Given the description of an element on the screen output the (x, y) to click on. 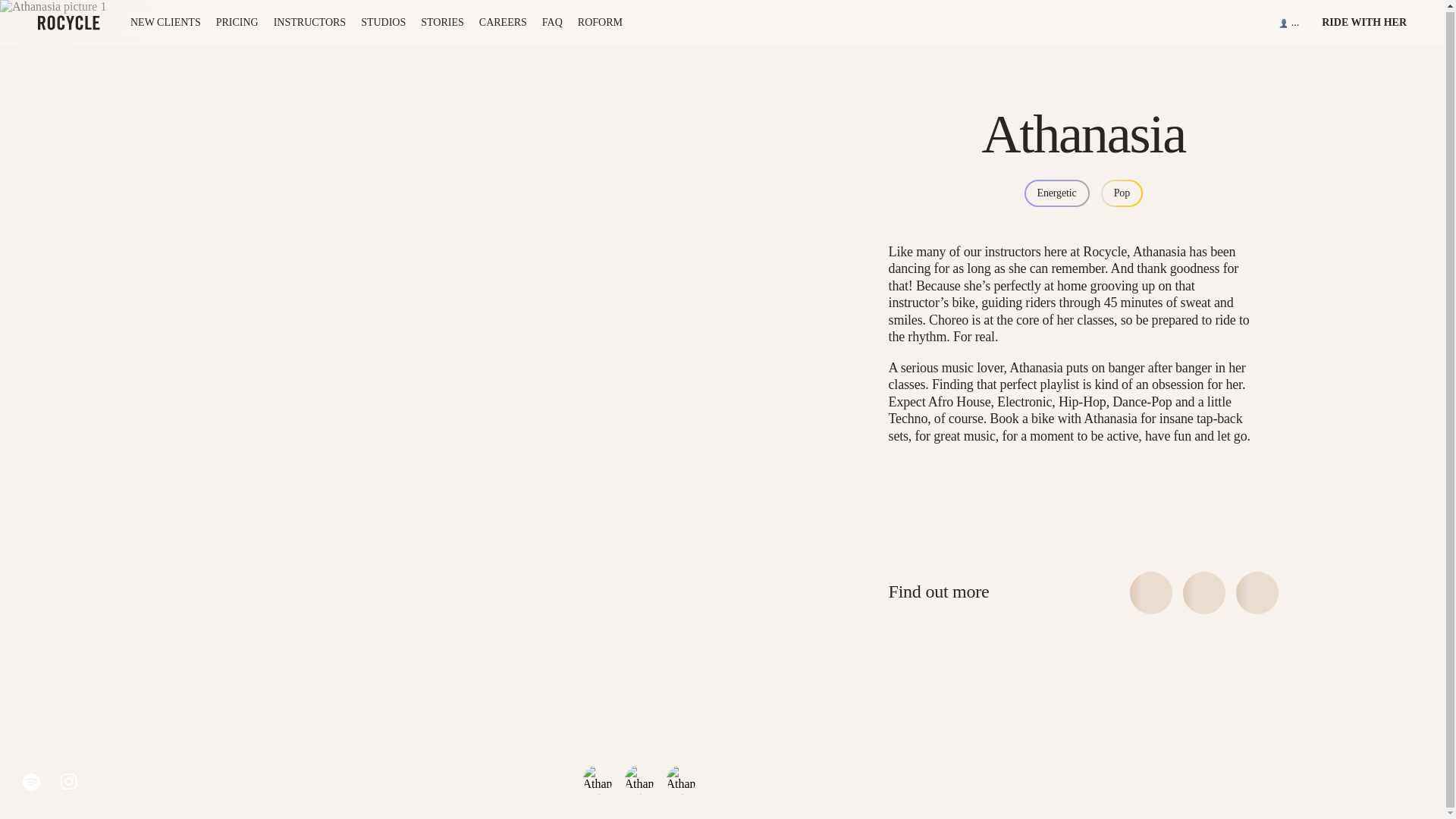
INSTRUCTORS (309, 21)
ROFORM (600, 21)
FAQ (551, 21)
STUDIOS (383, 21)
RIDE WITH HER (1364, 21)
NEW CLIENTS (165, 21)
PRICING (237, 21)
CAREERS (503, 21)
STORIES (442, 21)
... (1289, 21)
